Given the description of an element on the screen output the (x, y) to click on. 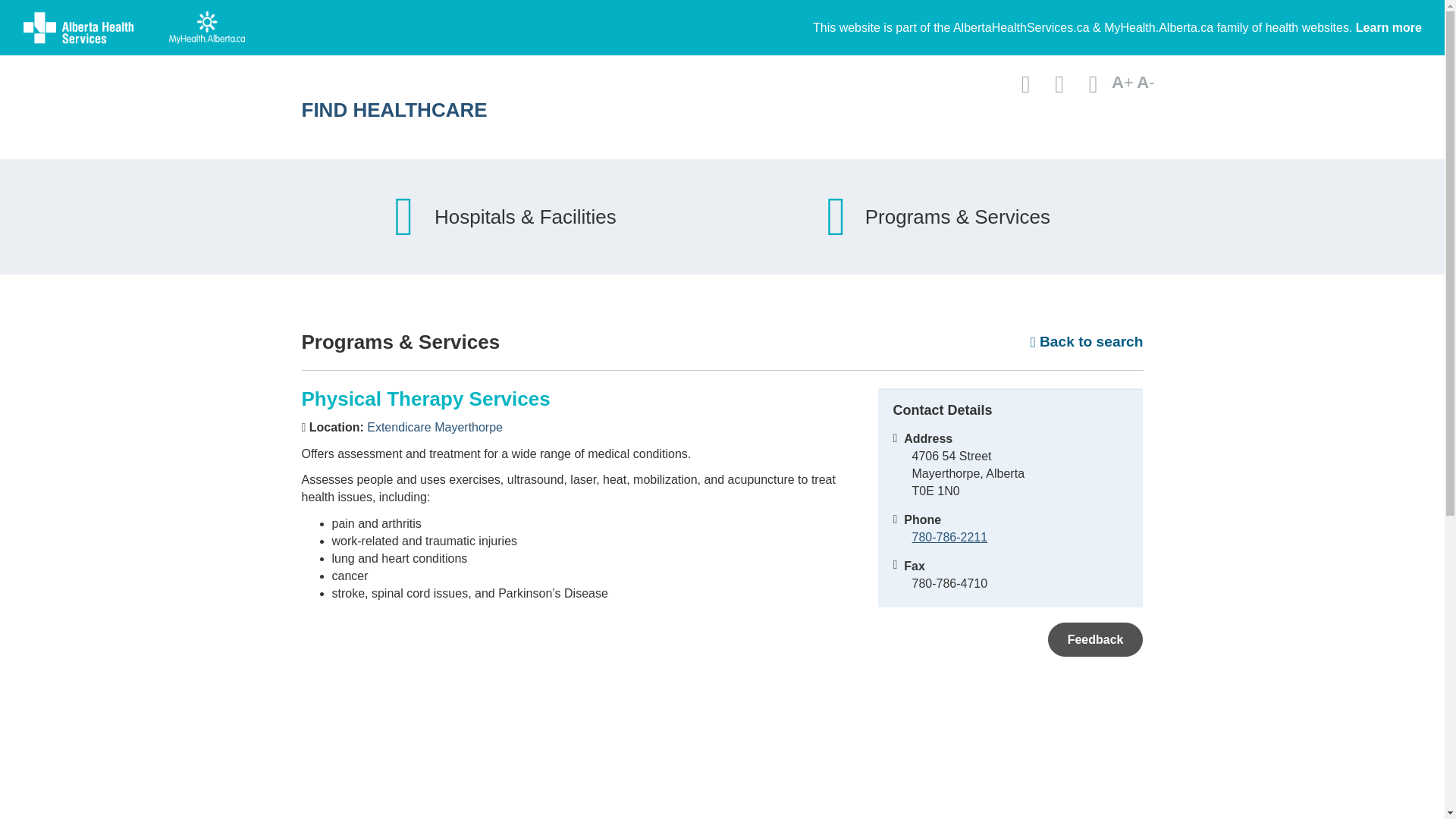
Extendicare Mayerthorpe (434, 427)
A- (1145, 81)
Learn more (1388, 27)
FIND HEALTHCARE (574, 110)
Back to search (1086, 341)
